Given the description of an element on the screen output the (x, y) to click on. 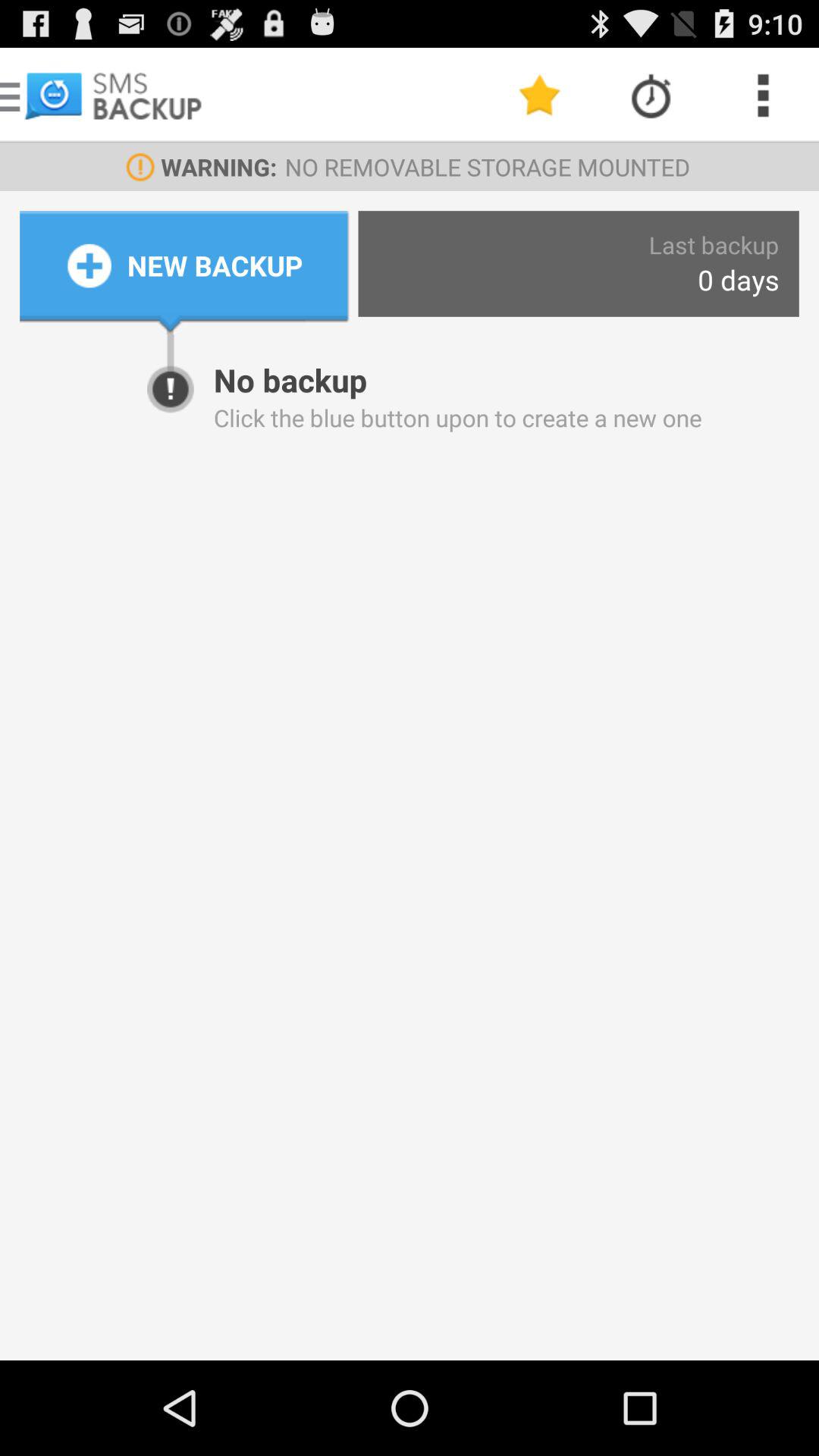
click item next to the new backup item (738, 279)
